Given the description of an element on the screen output the (x, y) to click on. 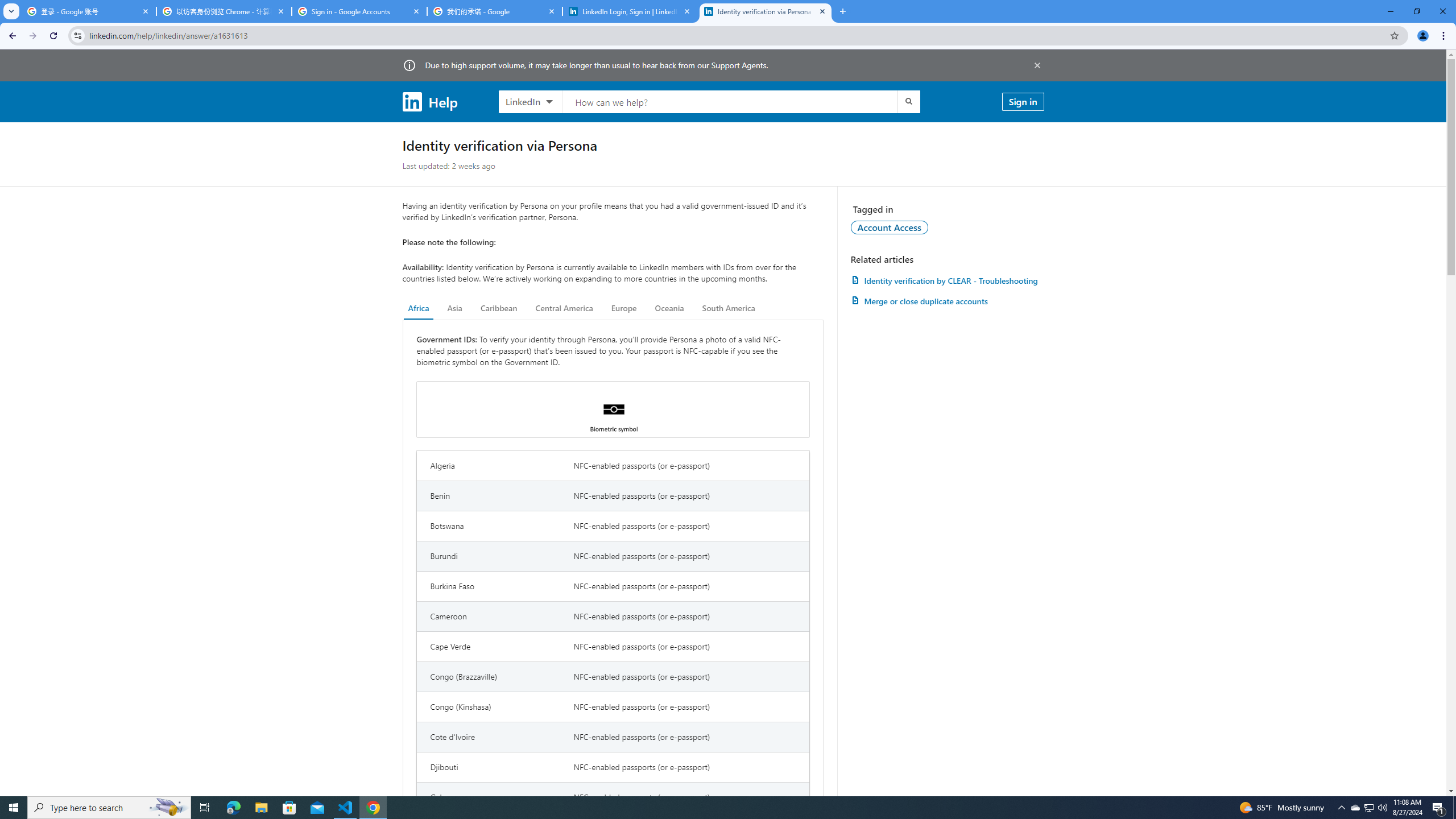
Biometric symbol (612, 409)
South America (728, 308)
Asia (454, 308)
Account Access (889, 227)
LinkedIn Login, Sign in | LinkedIn (630, 11)
